Given the description of an element on the screen output the (x, y) to click on. 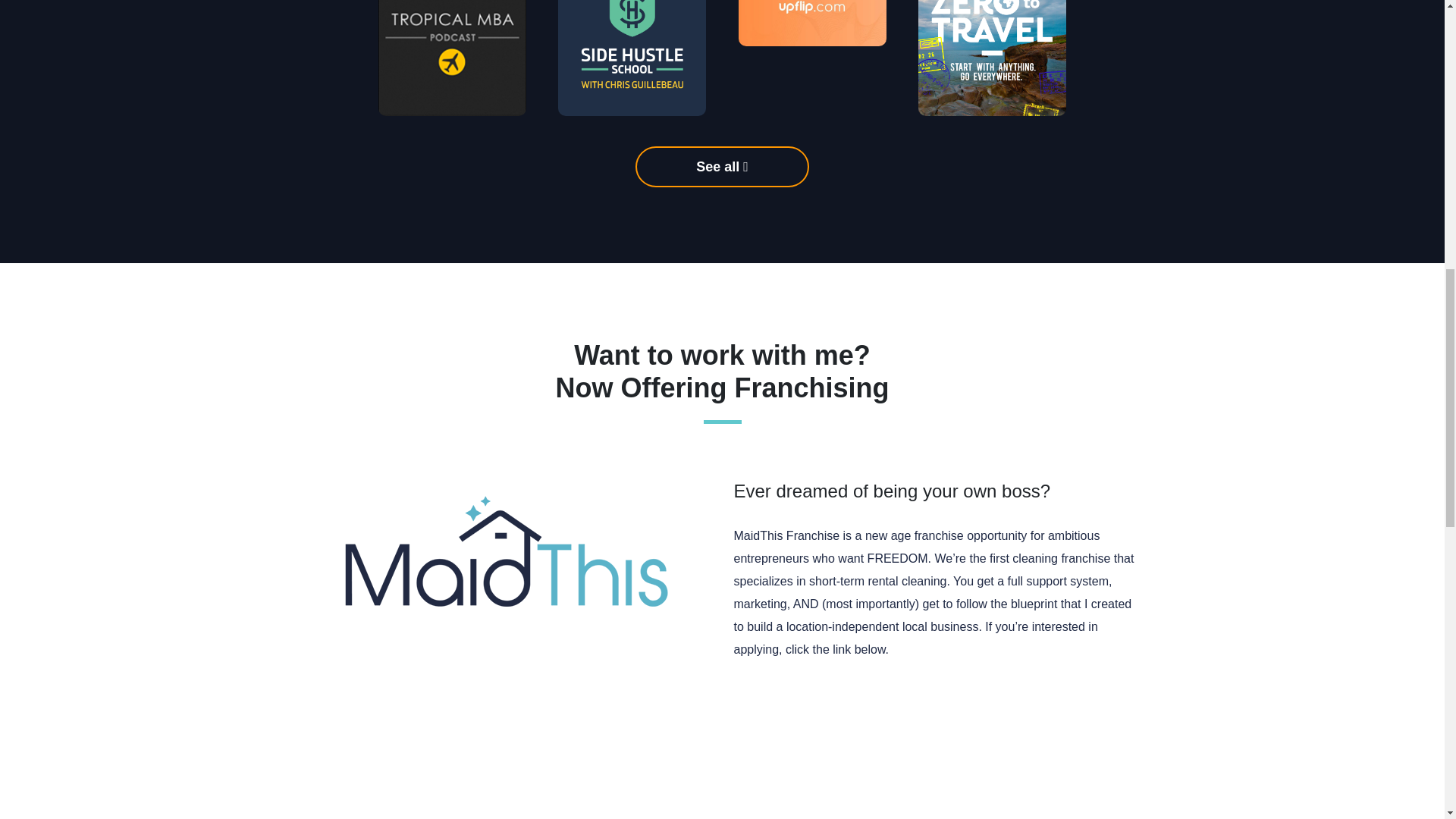
MaidThis Franchise Origin Story with CEO Neel Parekh (976, 759)
See all (721, 166)
